Given the description of an element on the screen output the (x, y) to click on. 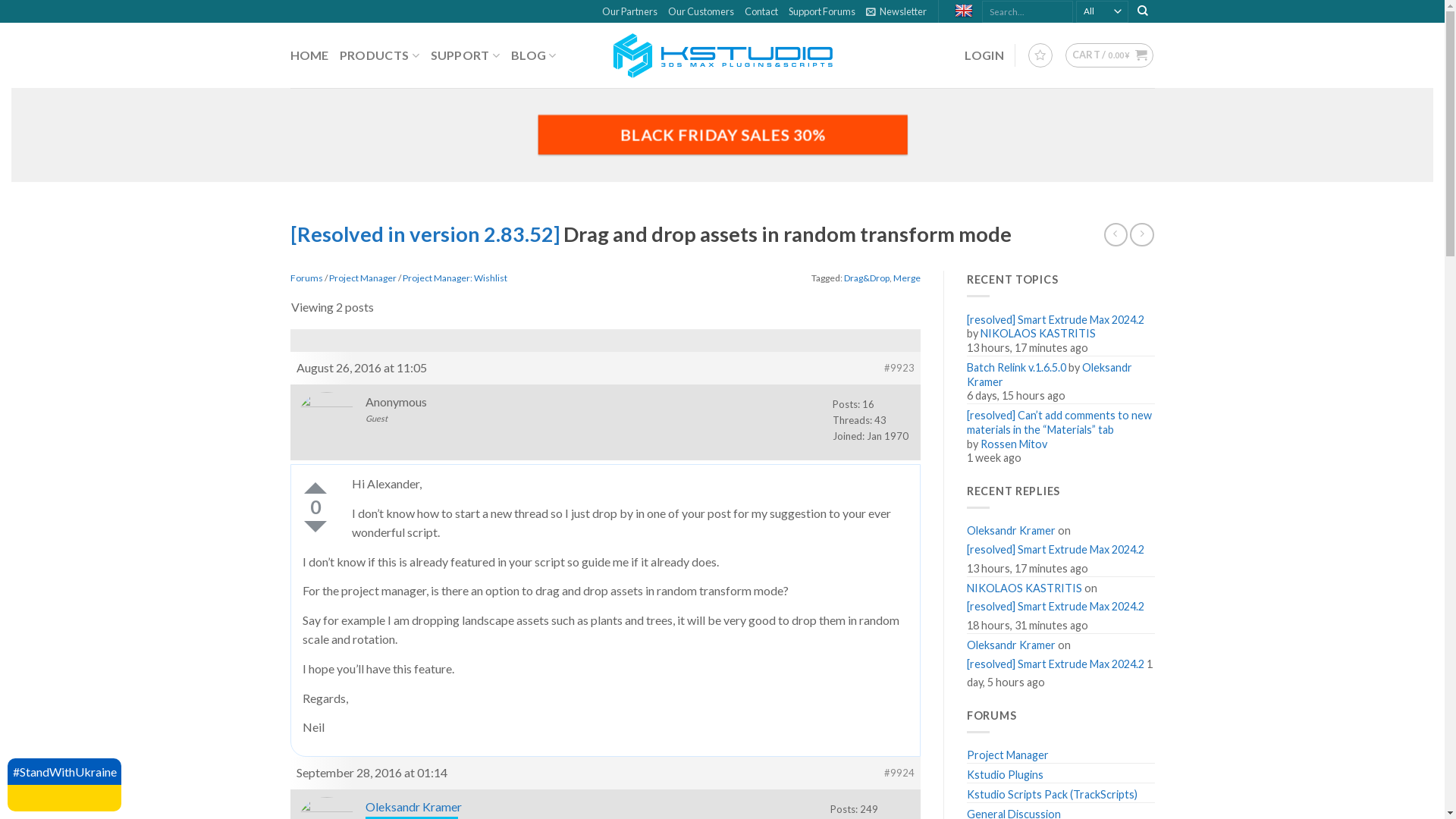
NIKOLAOS KASTRITIS Element type: text (1024, 586)
Skip to content Element type: text (0, 0)
Up Element type: text (315, 487)
Oleksandr Kramer Element type: text (413, 806)
Support Forums Element type: text (821, 11)
Project Manager: Wishlist Element type: text (453, 277)
[resolved] Smart Extrude Max 2024.2 Element type: text (1055, 664)
LOGIN Element type: text (984, 55)
SUPPORT Element type: text (465, 55)
HOME Element type: text (308, 55)
NIKOLAOS KASTRITIS Element type: text (1037, 332)
BLACK FRIDAY SALES 30% Element type: text (721, 134)
Merge Element type: text (906, 277)
Drag&Drop Element type: text (866, 277)
#9924 Element type: text (899, 772)
Newsletter Element type: text (896, 11)
Our Partners Element type: text (629, 11)
PRODUCTS Element type: text (379, 55)
#9923 Element type: text (899, 367)
Project Manager Element type: text (362, 277)
submit Element type: text (831, 545)
Oleksandr Kramer Element type: text (1010, 642)
Kstudio Scripts Pack (TrackScripts) Element type: text (1051, 792)
Contact Element type: text (761, 11)
[resolved] Smart Extrude Max 2024.2 Element type: text (1055, 549)
Down Element type: text (315, 526)
Kstudio Plugins Element type: text (1004, 772)
[resolved] Smart Extrude Max 2024.2 Element type: text (1055, 317)
[Resolved in version 2.83.52] Element type: text (425, 233)
Oleksandr Kramer Element type: text (1049, 374)
[resolved] Smart Extrude Max 2024.2 Element type: text (1055, 606)
Our Customers Element type: text (701, 11)
Oleksandr Kramer Element type: text (1010, 528)
Forums Element type: text (305, 277)
English Element type: hover (965, 11)
Project Manager Element type: text (1007, 752)
Batch Relink v.1.6.5.0 Element type: text (1016, 365)
BLOG Element type: text (533, 55)
Rossen Mitov Element type: text (1013, 443)
